Given the description of an element on the screen output the (x, y) to click on. 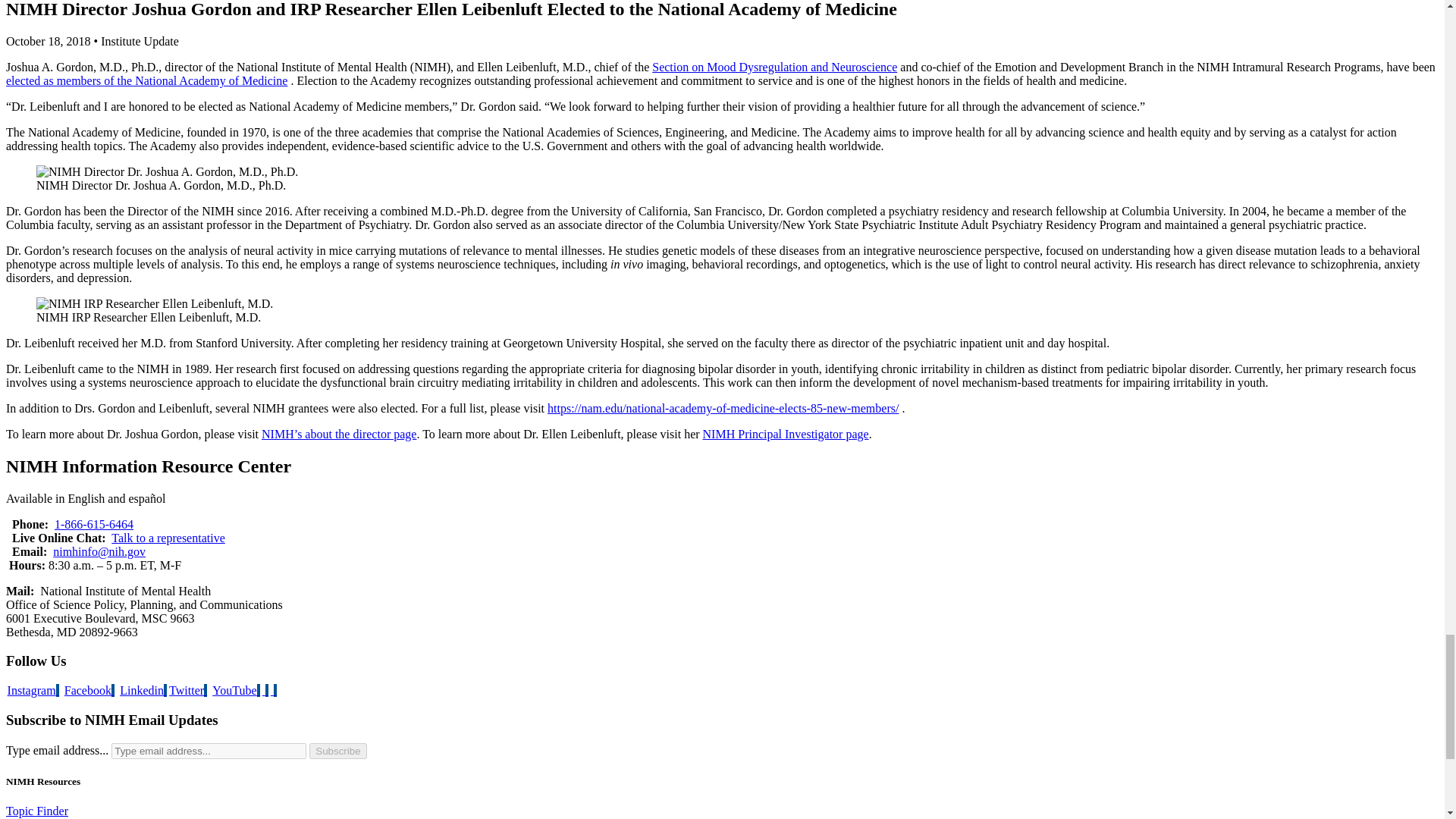
NIMH Instagram (33, 689)
NIMH Facebook (89, 689)
NIMH LinkedIn (143, 689)
NIMH News Feeds (273, 689)
NIMH Twitter (187, 689)
NIMH YouTube (235, 689)
NIMH Newsletters (264, 689)
Subscribe (337, 750)
